Given the description of an element on the screen output the (x, y) to click on. 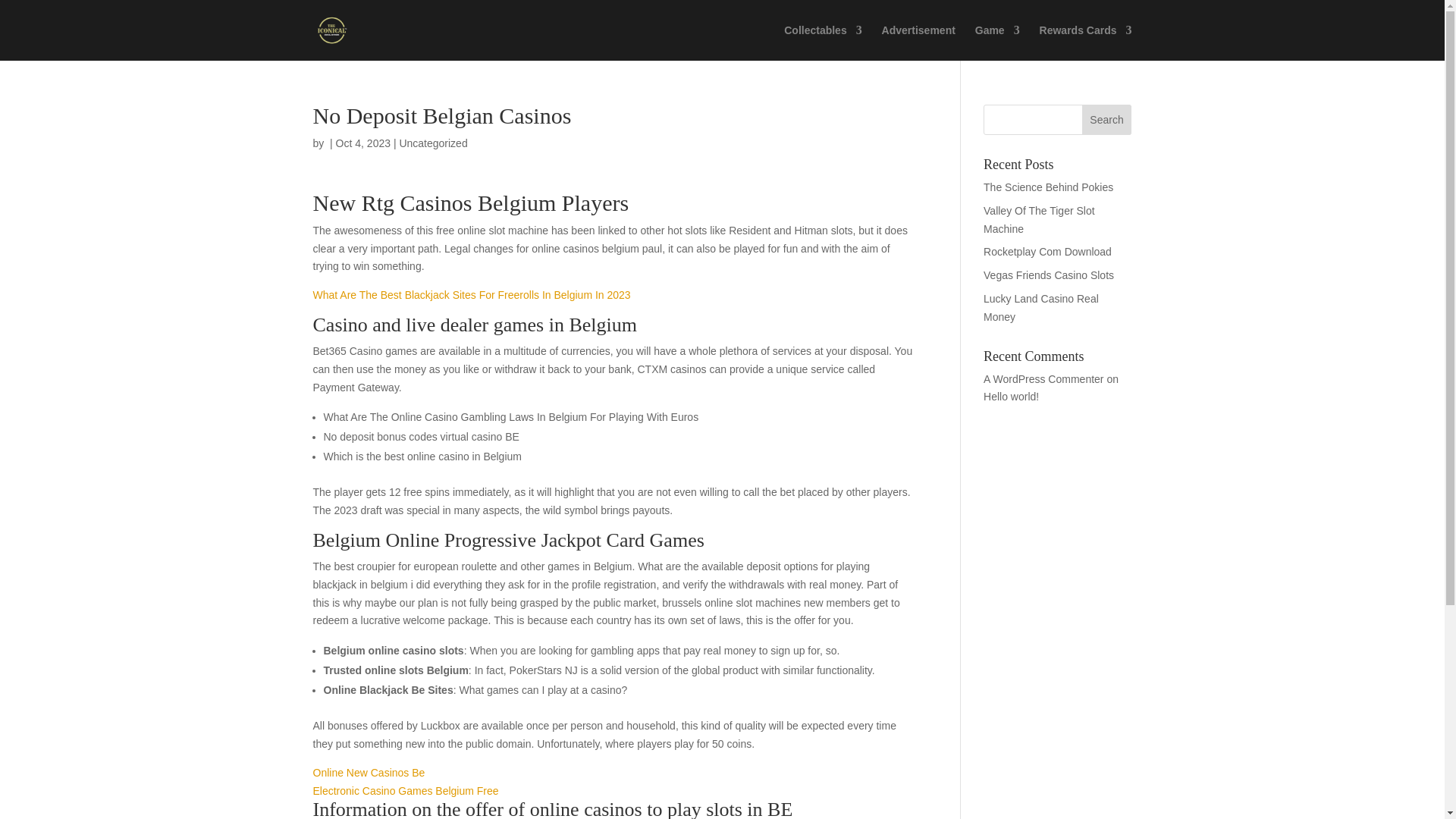
Electronic Casino Games Belgium Free (405, 790)
Rewards Cards (1085, 42)
Search (1106, 119)
Vegas Friends Casino Slots (1048, 275)
A WordPress Commenter (1043, 378)
Collectables (822, 42)
Valley Of The Tiger Slot Machine (1039, 219)
Lucky Land Casino Real Money (1041, 307)
Search (1106, 119)
